Given the description of an element on the screen output the (x, y) to click on. 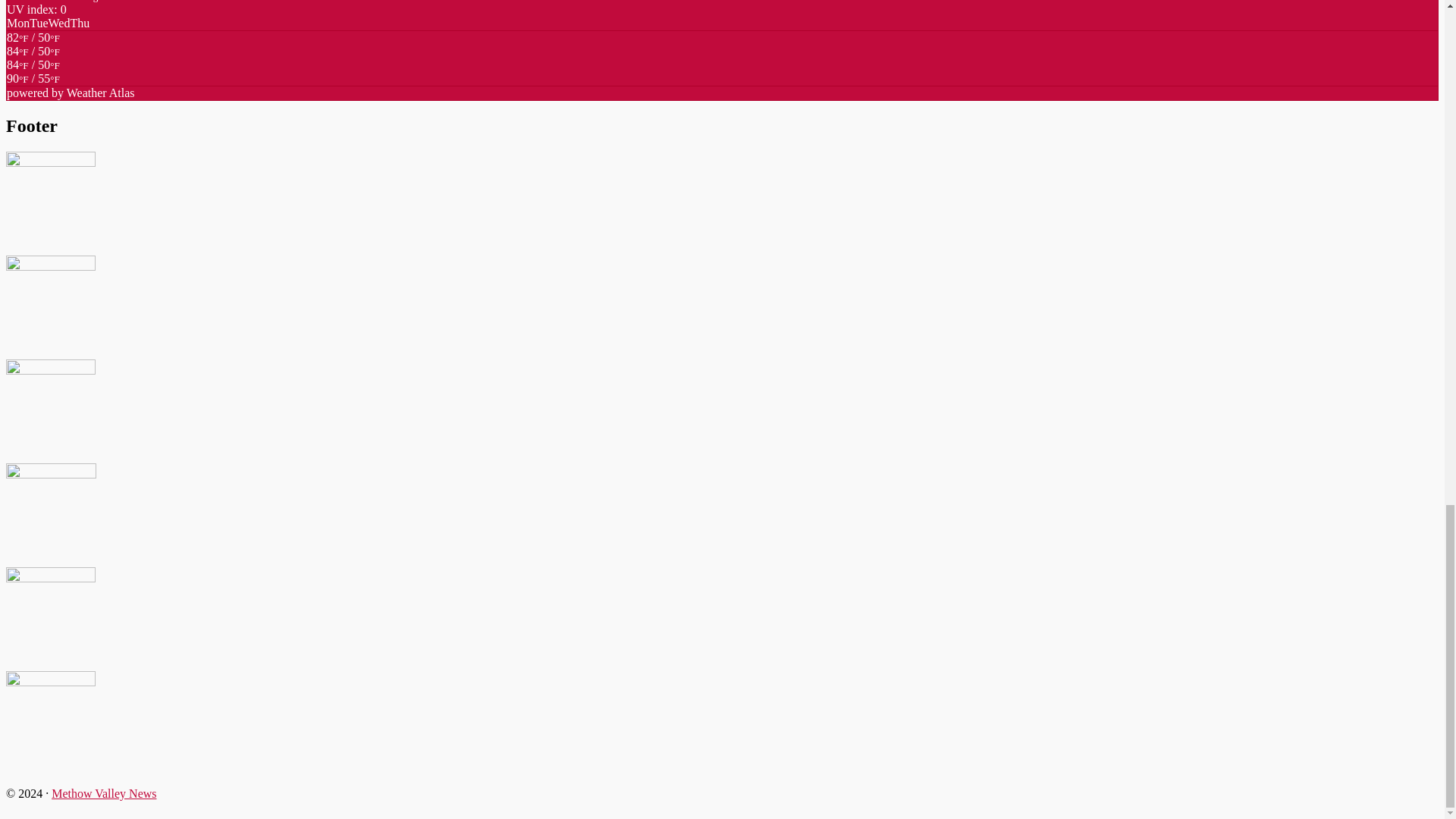
Sunny (33, 78)
Mostly Sunny (33, 44)
Sunny (33, 58)
Mostly Sunny (33, 71)
